Given the description of an element on the screen output the (x, y) to click on. 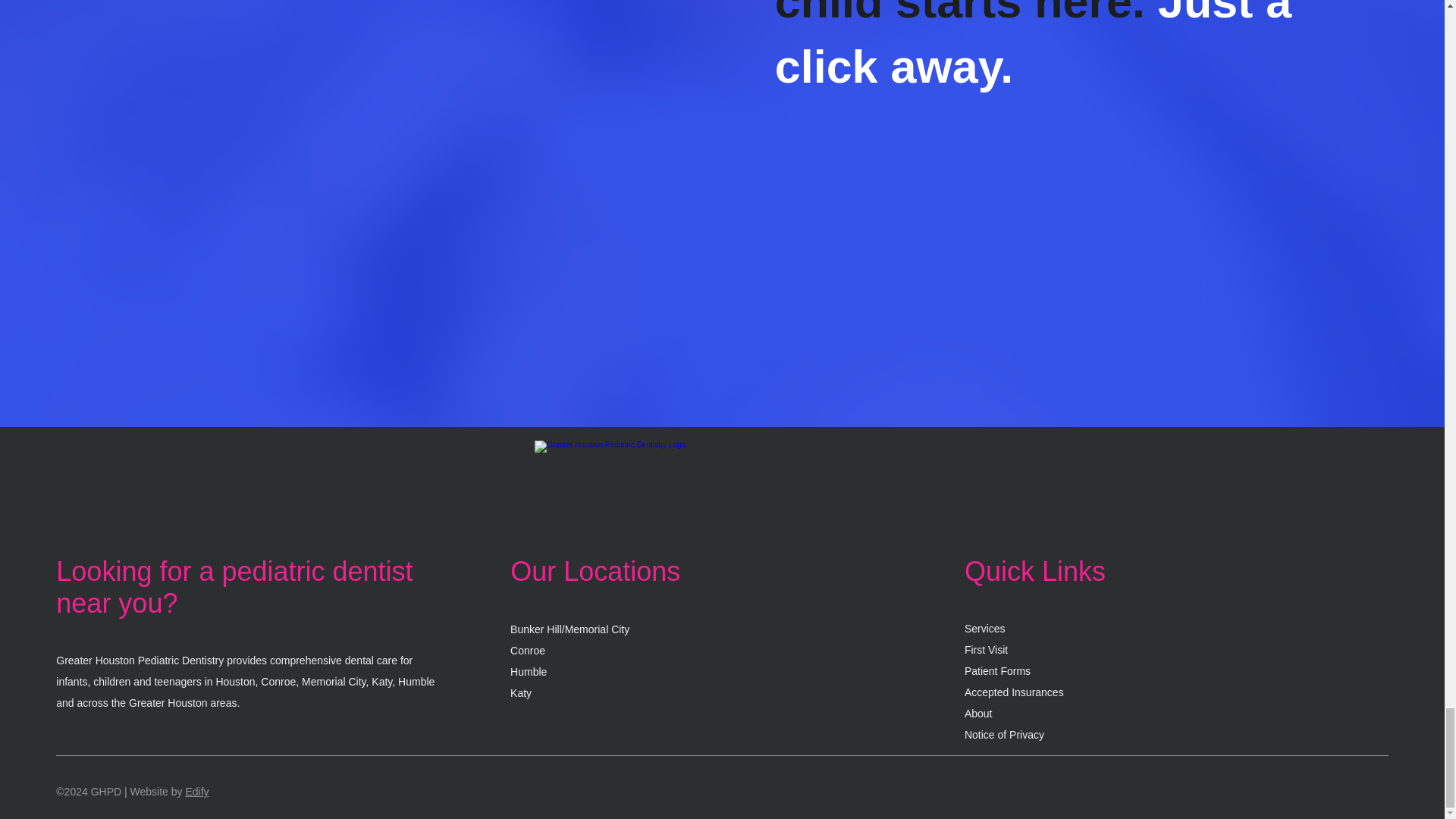
Humble (529, 671)
Conroe (527, 650)
